Given the description of an element on the screen output the (x, y) to click on. 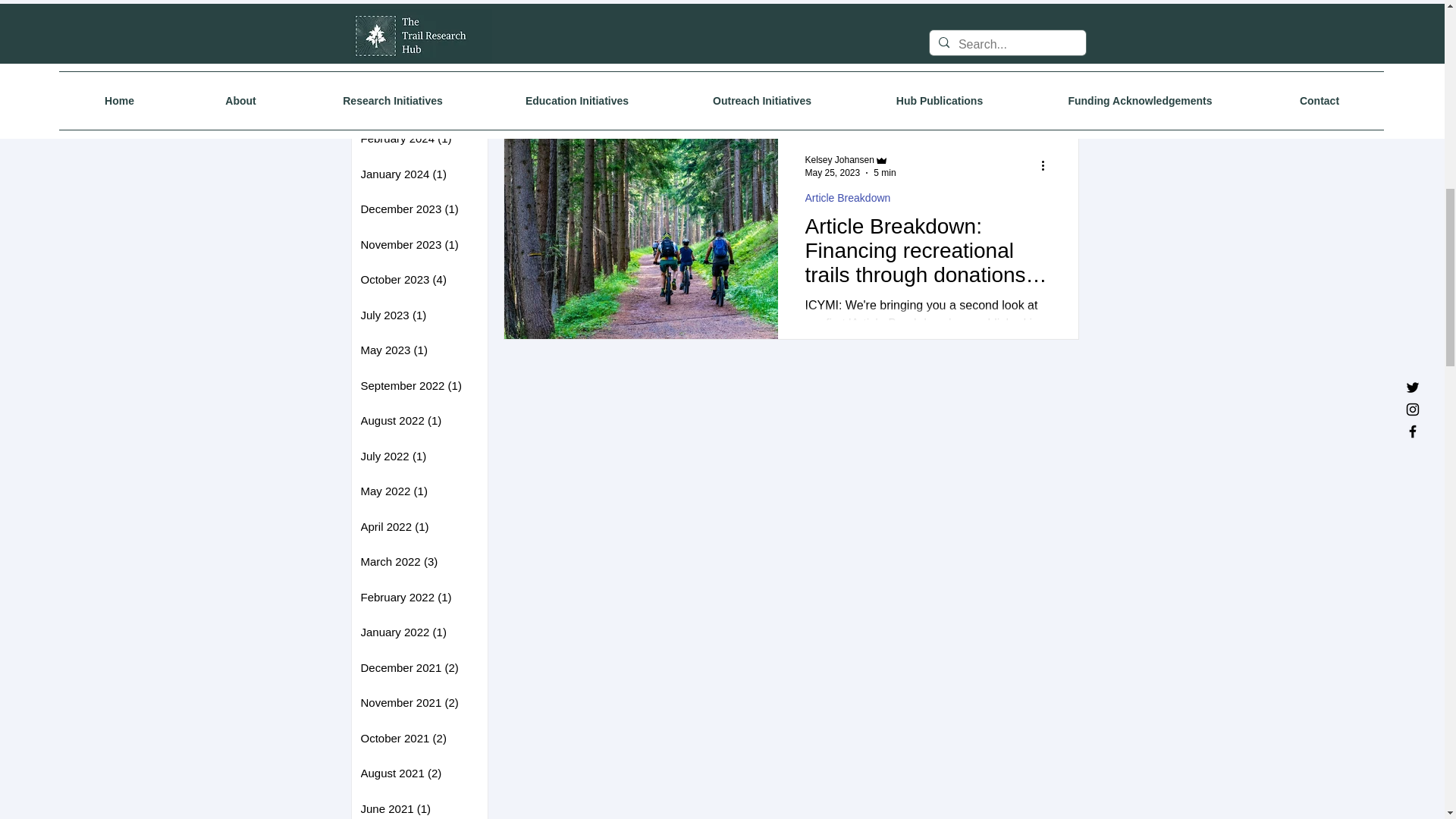
5 min (884, 172)
May 25, 2023 (832, 172)
Kelsey Johansen (840, 159)
